Given the description of an element on the screen output the (x, y) to click on. 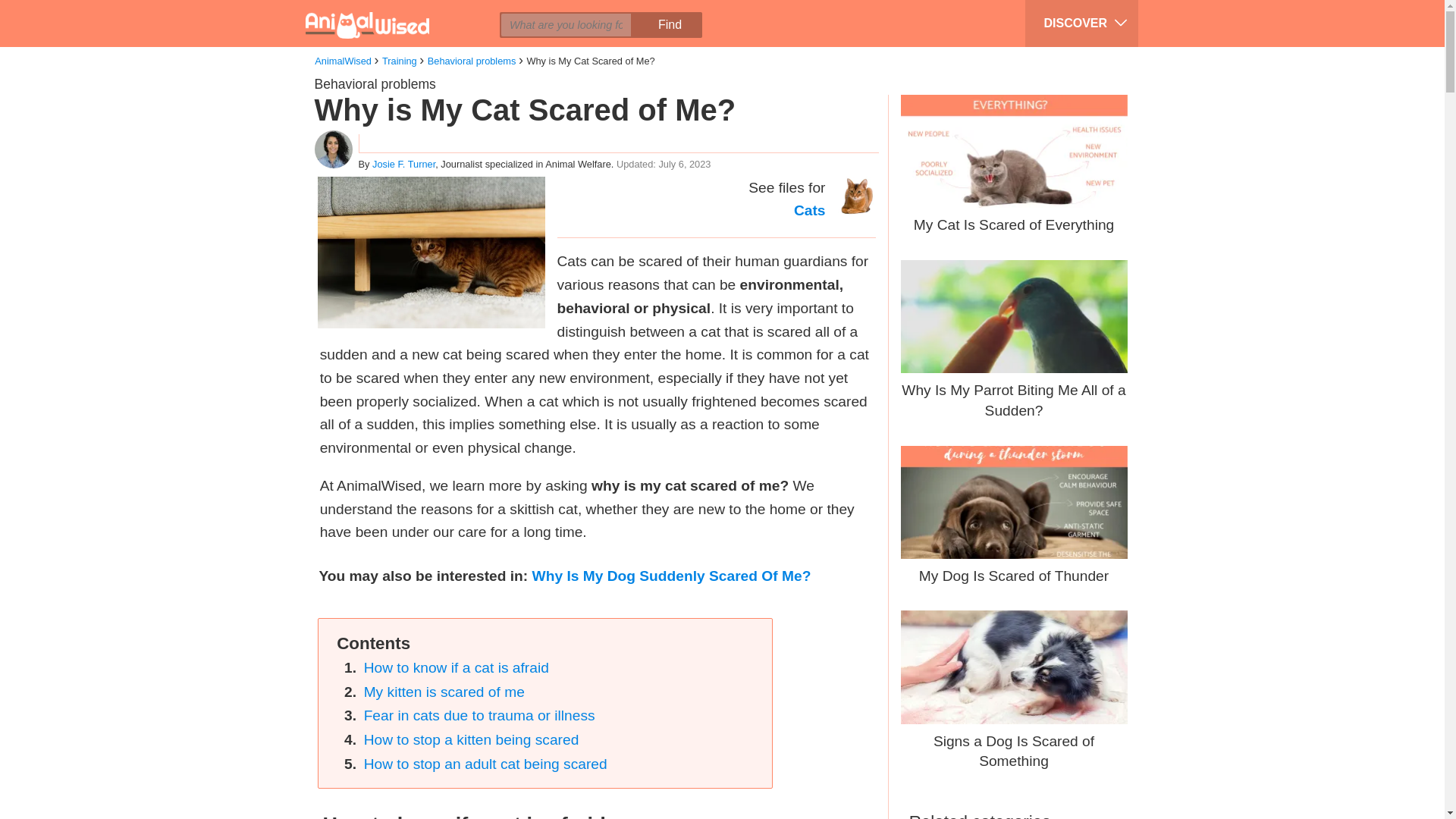
How to know if a cat is afraid (456, 667)
Fear in cats due to trauma or illness (479, 715)
Find (668, 24)
imprimir (485, 12)
How to stop a kitten being scared (471, 739)
AnimalWised (342, 60)
twitter (399, 12)
facebook (370, 12)
My kitten is scared of me (444, 691)
descargar (514, 12)
